Given the description of an element on the screen output the (x, y) to click on. 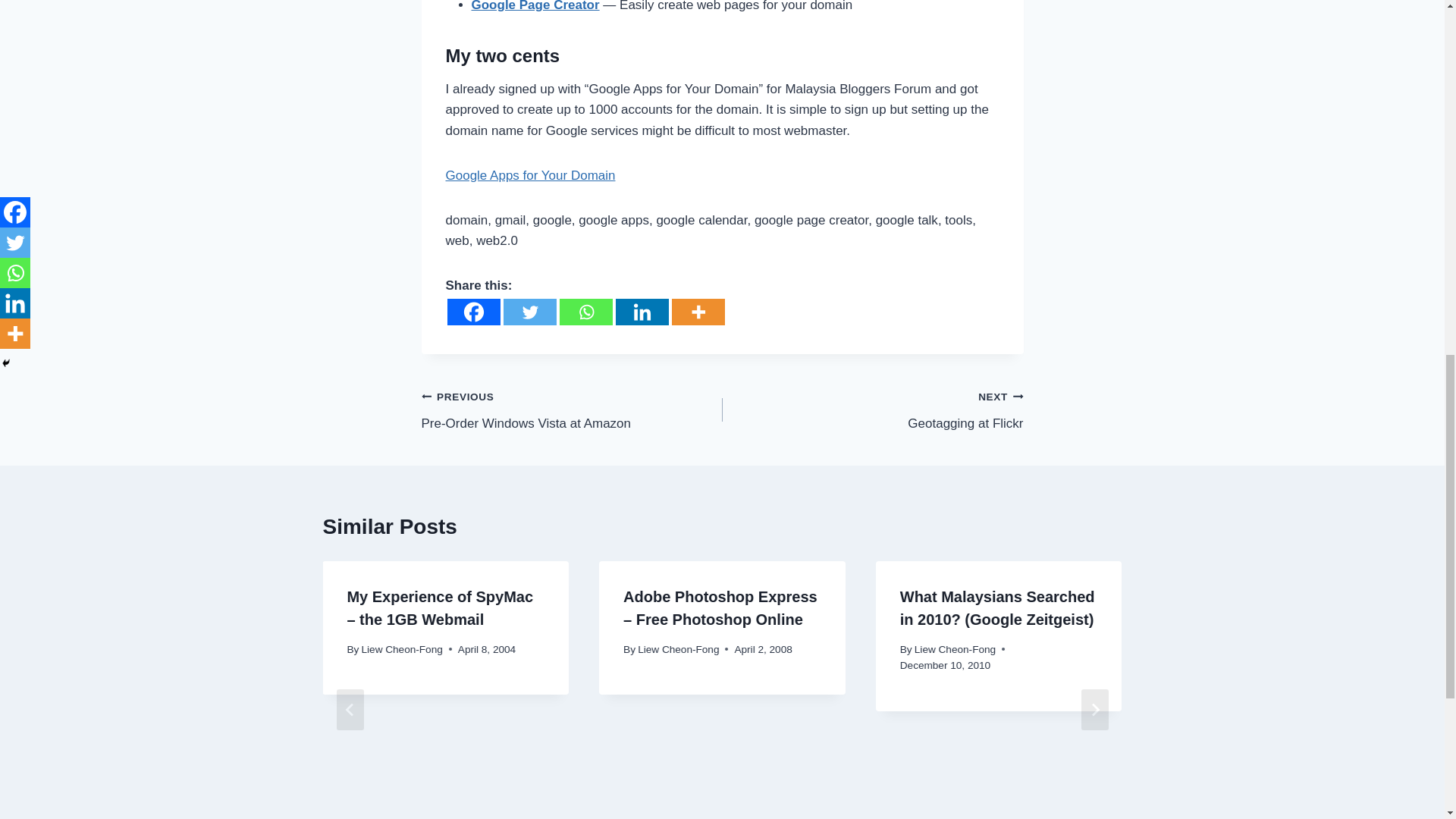
Whatsapp (585, 311)
Google Page Creator (535, 6)
Linkedin (641, 311)
Google Apps for Your Domain (530, 175)
Google Apps for Your Domain (530, 175)
Twitter (872, 409)
Facebook (529, 311)
More (473, 311)
